Given the description of an element on the screen output the (x, y) to click on. 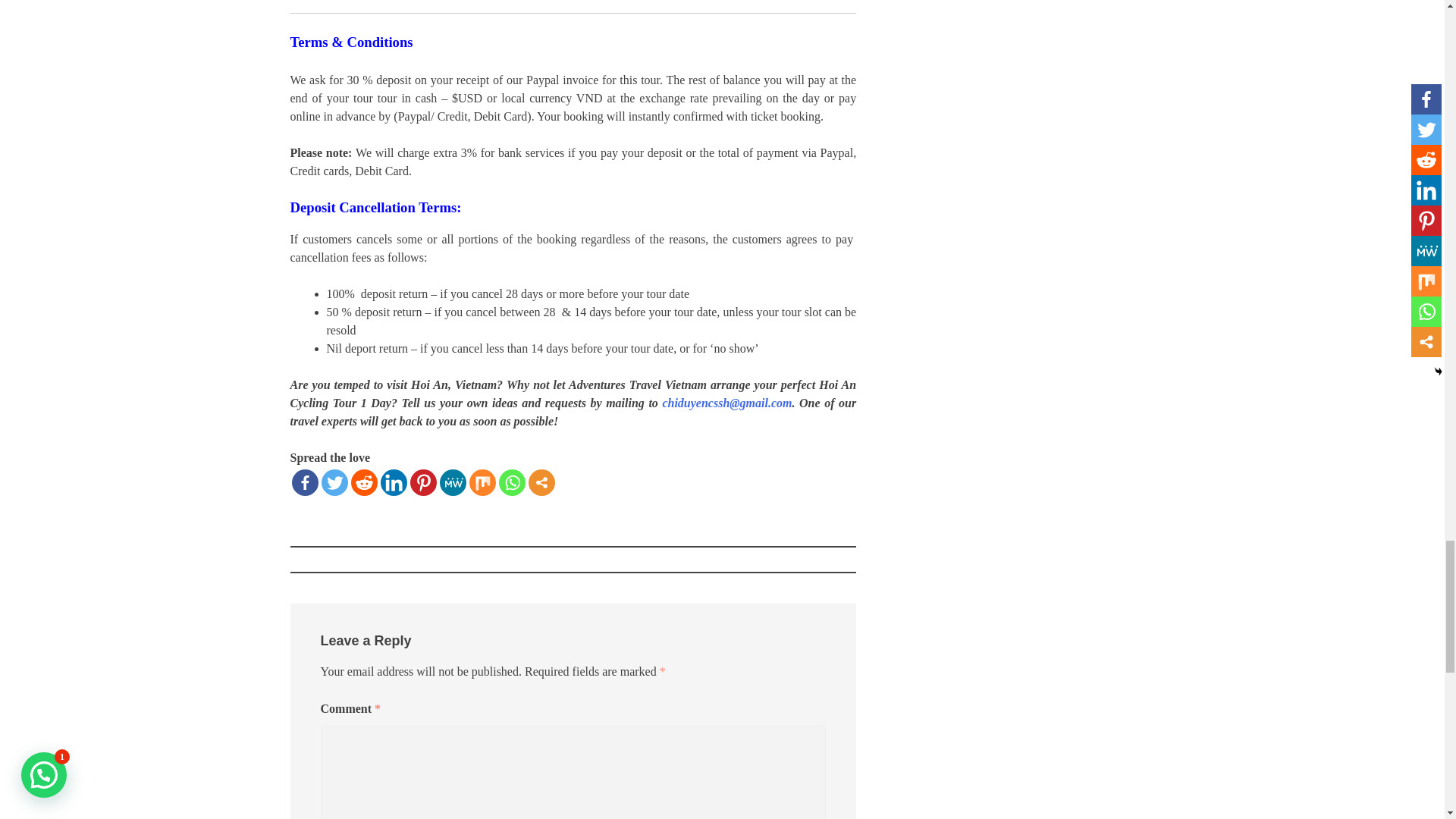
Whatsapp (512, 482)
Linkedin (393, 482)
Reddit (363, 482)
Facebook (304, 482)
Twitter (334, 482)
Pinterest (422, 482)
Mix (481, 482)
MeWe (452, 482)
More (540, 482)
